Given the description of an element on the screen output the (x, y) to click on. 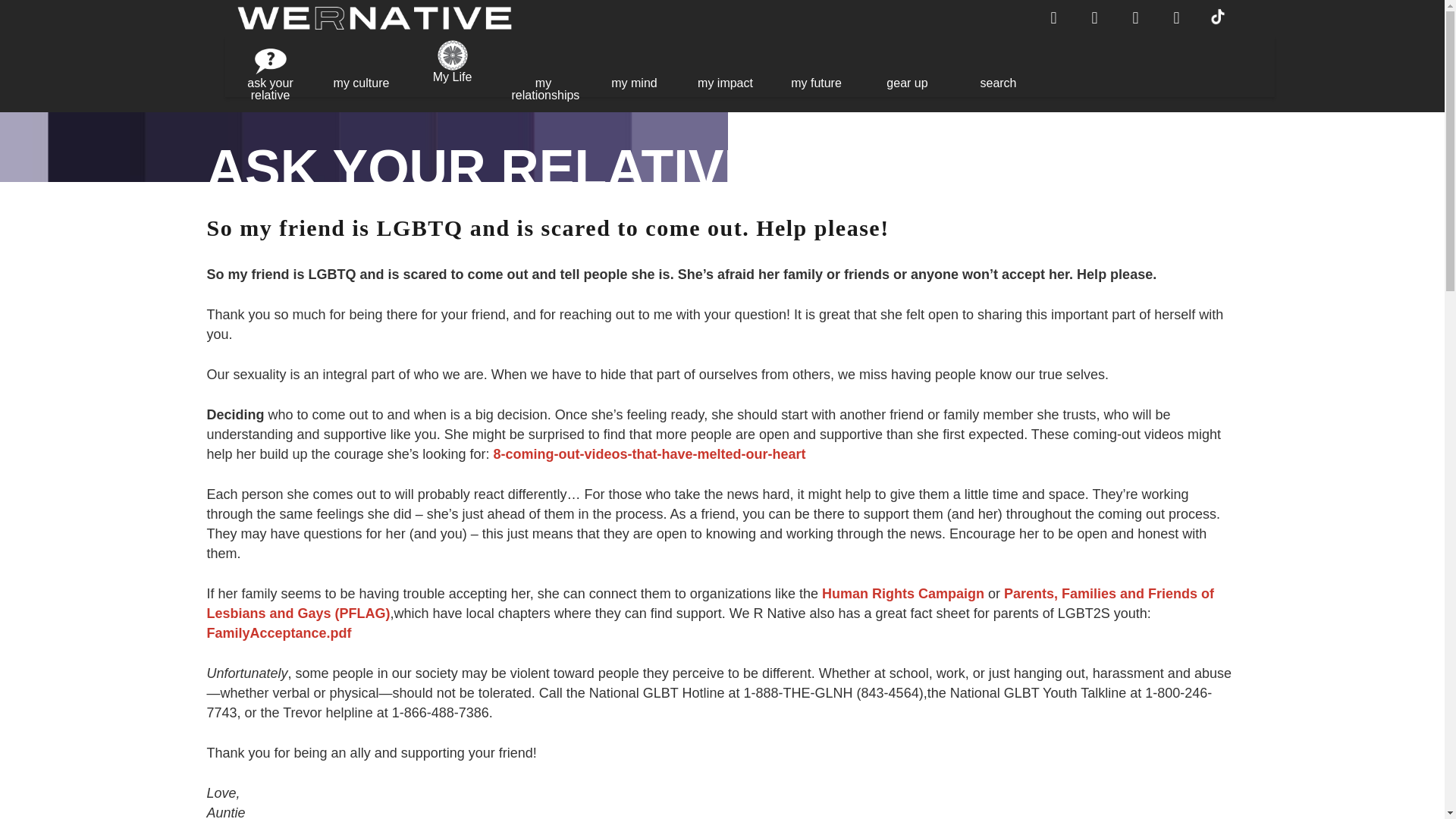
youtube (1135, 17)
tiktok (1217, 15)
facebook (1054, 17)
my culture (360, 70)
instagram (1176, 17)
twitter (1094, 17)
ask your relative (269, 70)
My Life (451, 70)
tiktok (1217, 27)
